Given the description of an element on the screen output the (x, y) to click on. 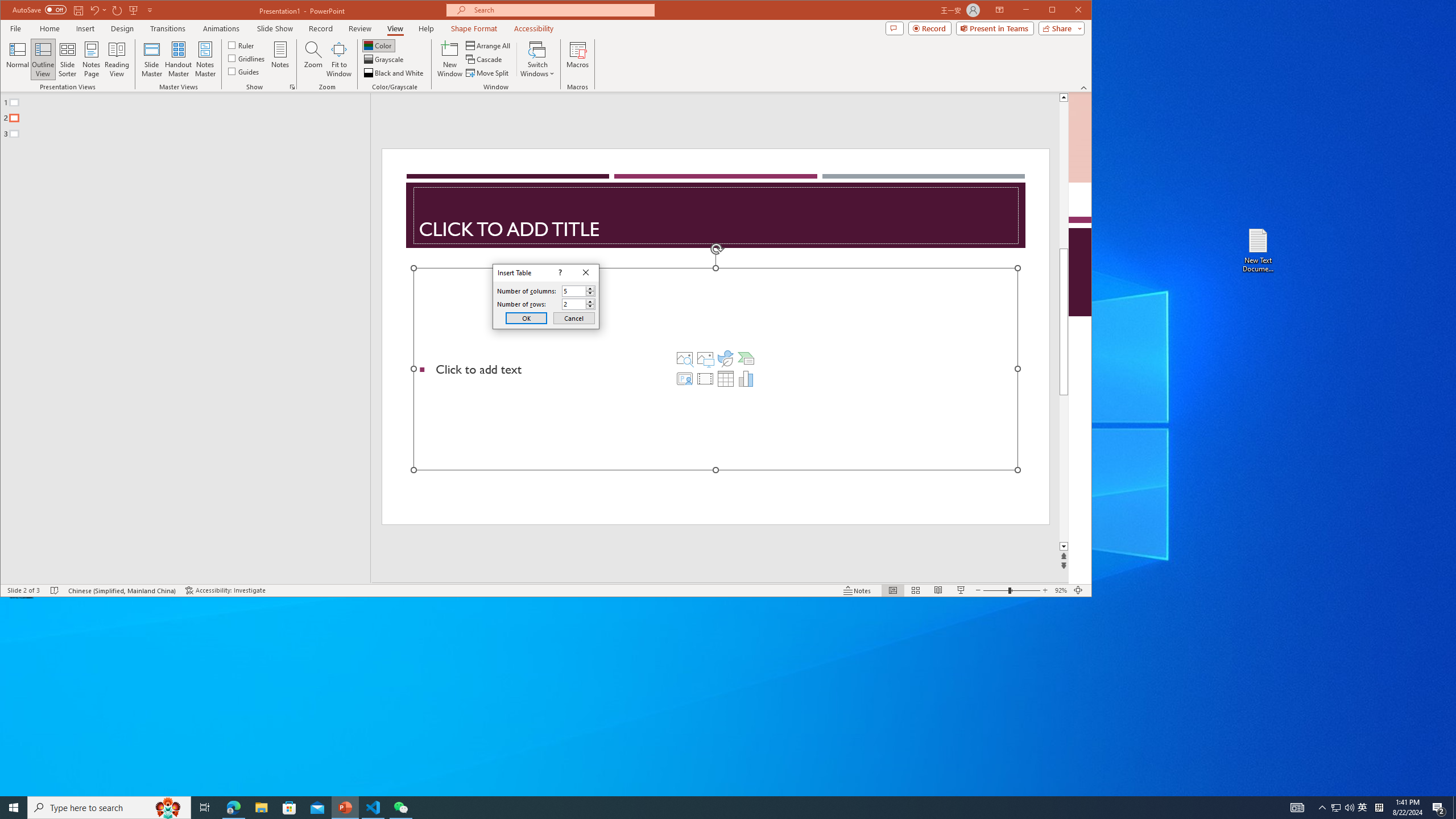
WeChat - 1 running window (400, 807)
